Given the description of an element on the screen output the (x, y) to click on. 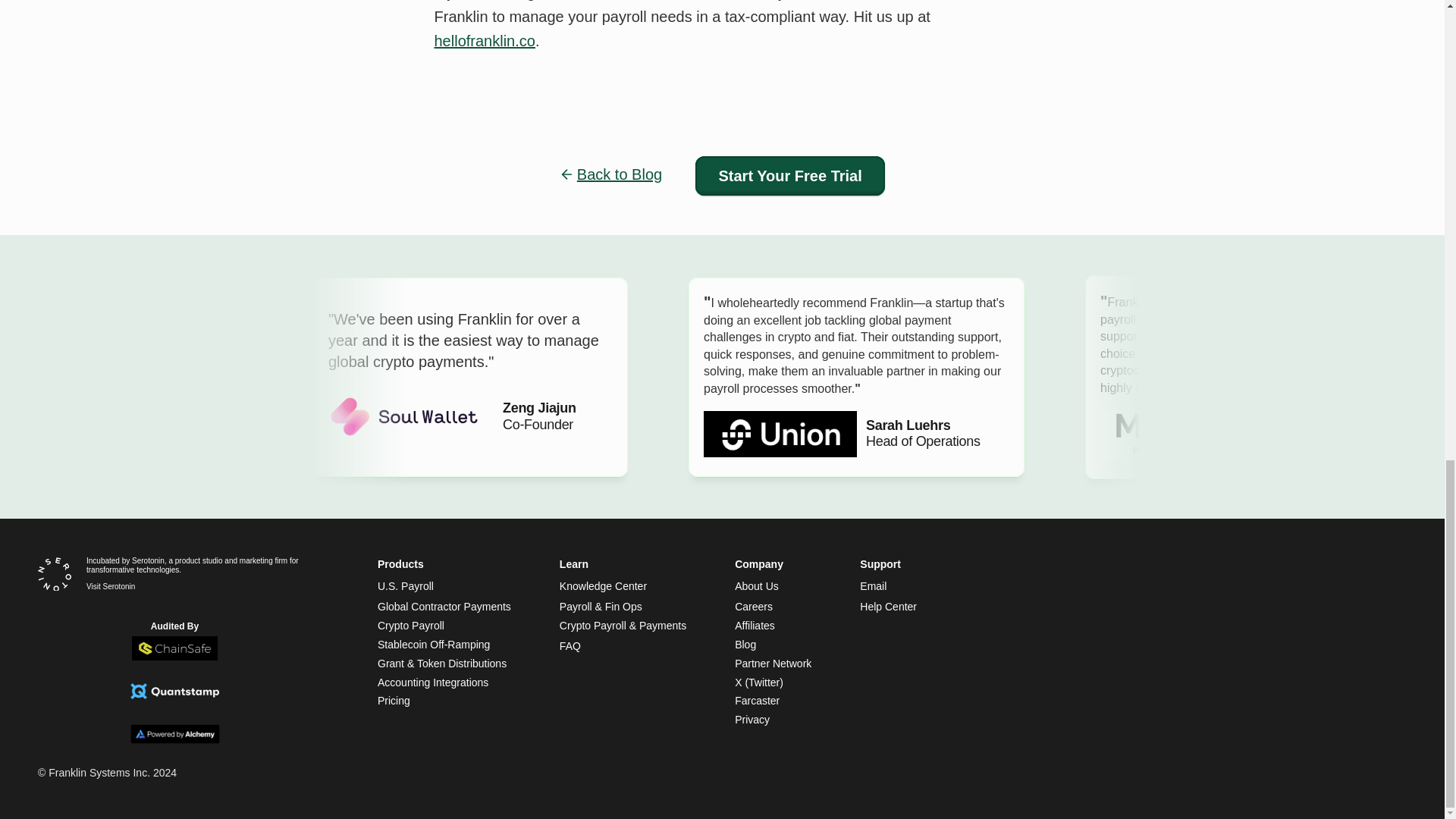
hellofranklin.co (483, 40)
Back to Blog (619, 174)
U.S. Payroll (405, 585)
Affiliates (754, 625)
Privacy (752, 719)
Start Your Free Trial (790, 175)
Visit Serotonin (110, 586)
Careers (754, 606)
Accounting Integrations (432, 682)
Pricing (393, 700)
